Given the description of an element on the screen output the (x, y) to click on. 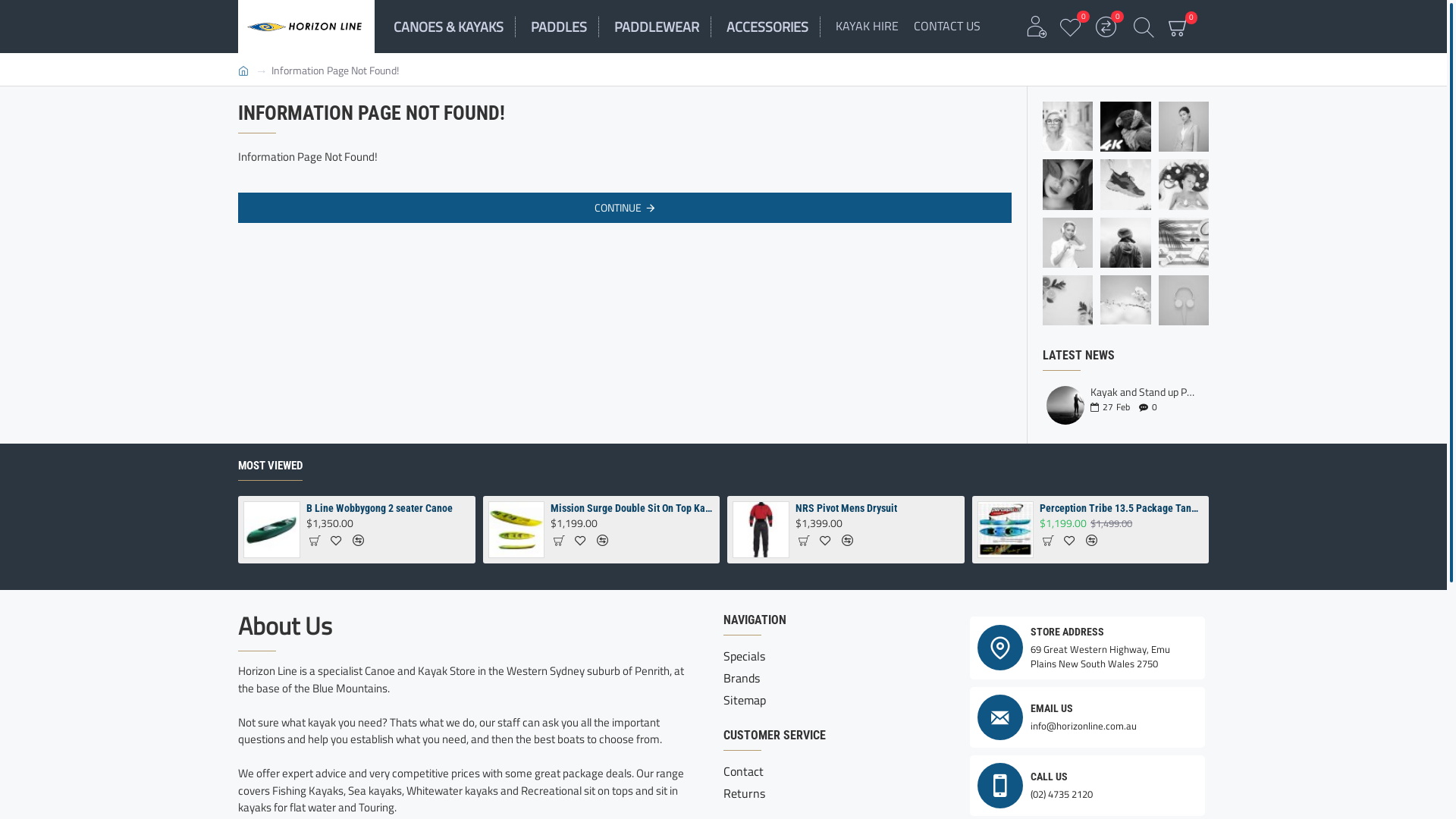
Perception Tribe 13.5 Package Tandem Sit on Top Kayak Element type: hover (1004, 529)
Specials Element type: text (744, 657)
CONTINUE Element type: text (624, 207)
Returns Element type: text (744, 795)
Brands Element type: text (741, 679)
0 Element type: text (1106, 26)
Image Caption Element type: hover (1125, 242)
Image Caption Element type: hover (1125, 300)
NRS Pivot Mens Drysuit  Element type: hover (760, 529)
Image Caption Element type: hover (1125, 184)
Image Caption Element type: hover (1067, 126)
CONTACT US Element type: text (947, 26)
CANOES & KAYAKS Element type: text (454, 26)
Information Page Not Found! Element type: text (334, 70)
Image Caption Element type: hover (1067, 242)
Horizon Line Element type: hover (306, 26)
Image Caption Element type: hover (1067, 300)
B Line Wobbygong 2 seater Canoe Element type: text (388, 507)
MOST VIEWED Element type: text (270, 469)
Image Caption Element type: hover (1125, 126)
KAYAK HIRE Element type: text (866, 26)
ACCESSORIES Element type: text (773, 26)
Sitemap Element type: text (744, 701)
B Line Wobbygong 2 seater Canoe Element type: hover (271, 529)
Mission Surge Double Sit On Top Kayak Element type: text (632, 507)
Mission Surge Double Sit On Top Kayak  Element type: hover (516, 529)
PADDLEWEAR Element type: text (662, 26)
Image Caption Element type: hover (1183, 184)
Contact Element type: text (743, 773)
NRS Pivot Mens Drysuit Element type: text (877, 507)
Image Caption Element type: hover (1183, 242)
Image Caption Element type: hover (1183, 126)
Image Caption Element type: hover (1183, 300)
0 Element type: text (1178, 26)
Kayak and Stand up Paddle Board Hire Element type: hover (1065, 404)
0 Element type: text (1071, 26)
Perception Tribe 13.5 Package Tandem Sit on Top Kayak Element type: text (1121, 507)
PADDLES Element type: text (564, 26)
Image Caption Element type: hover (1067, 184)
Kayak and Stand up Paddle Board Hire Element type: text (1144, 391)
